Given the description of an element on the screen output the (x, y) to click on. 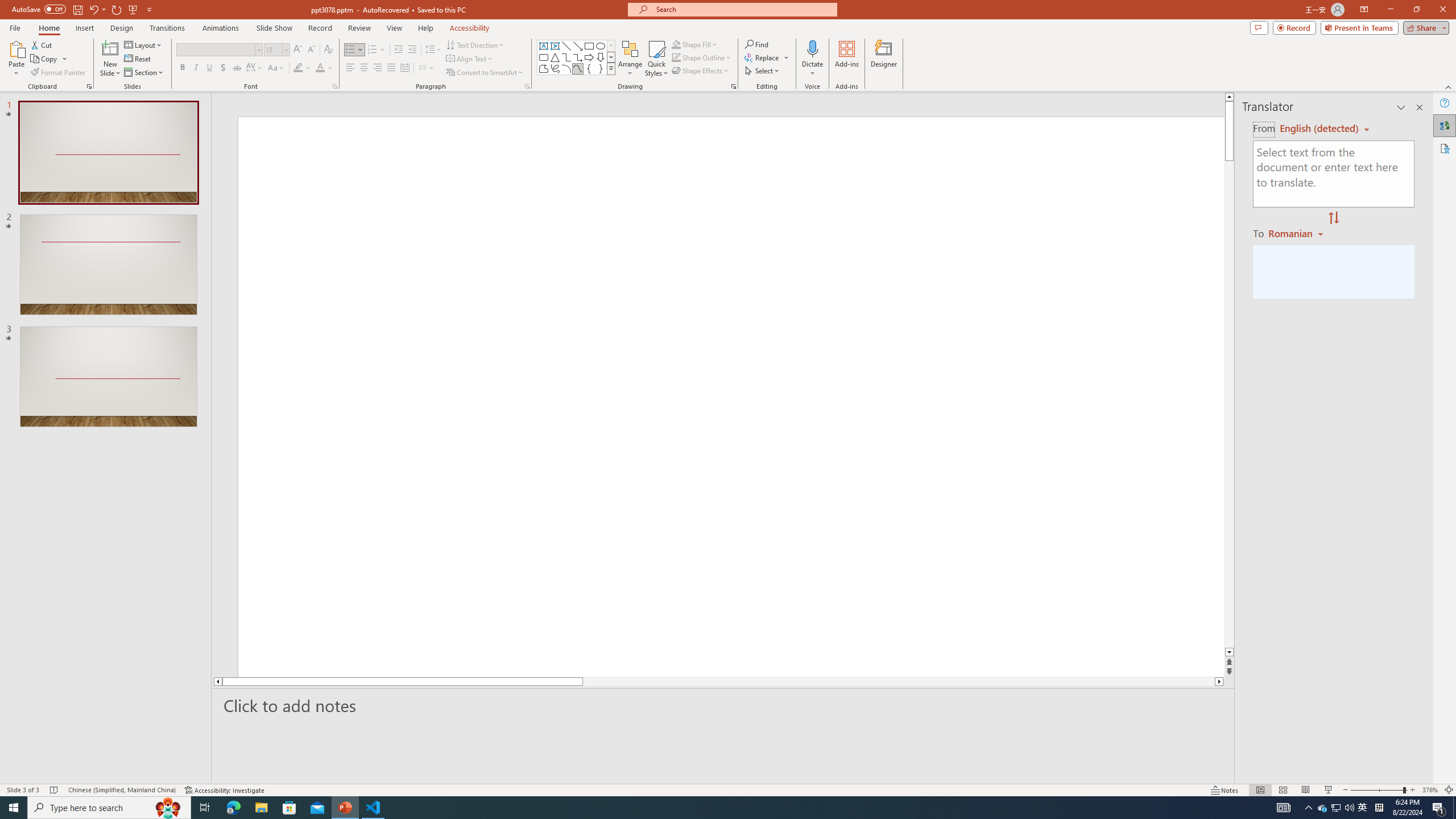
Cut (42, 44)
Select (762, 69)
Oval (600, 45)
Increase Font Size (297, 49)
Line (566, 45)
Text Box (543, 45)
